Given the description of an element on the screen output the (x, y) to click on. 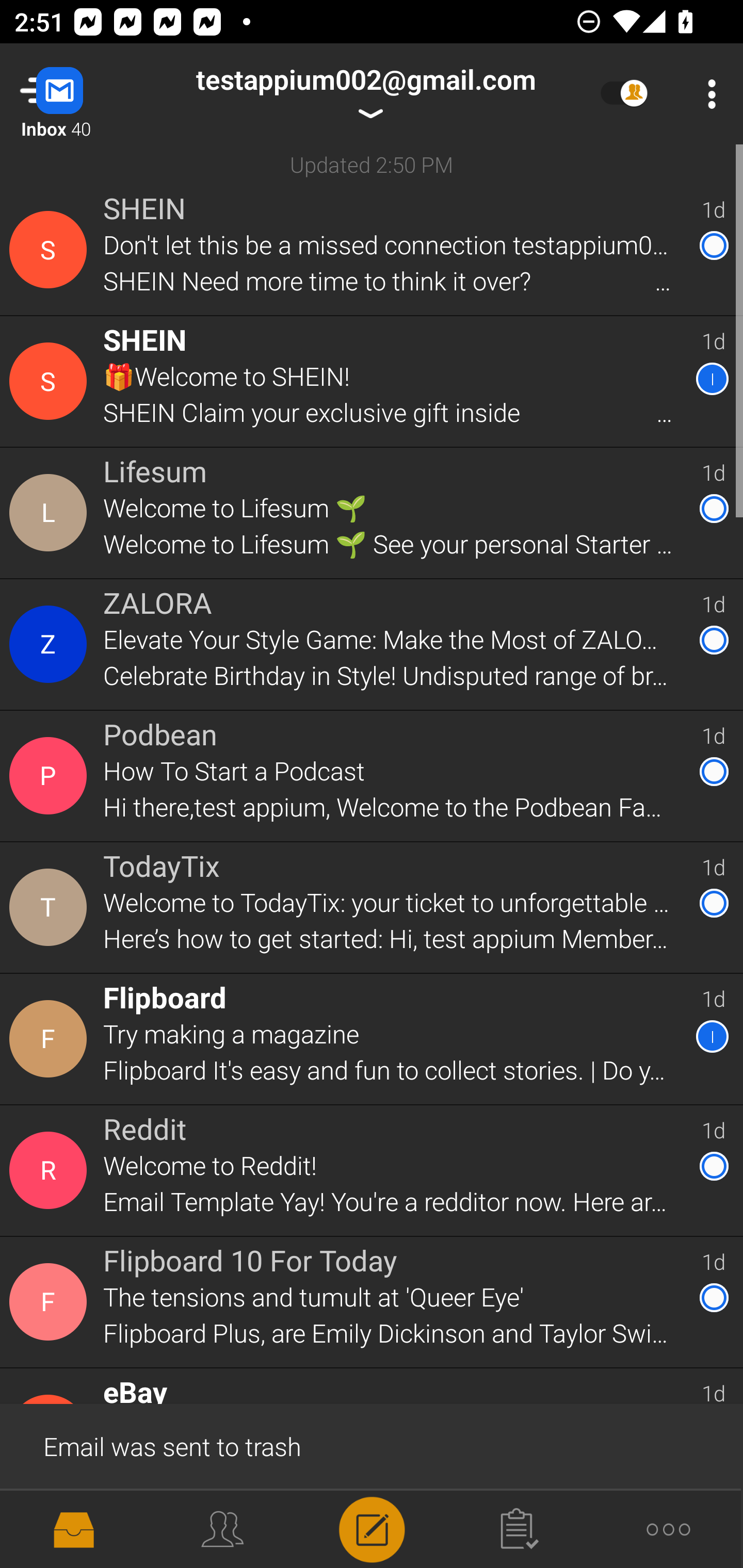
Navigate up (81, 93)
testappium002@gmail.com (365, 93)
More Options (706, 93)
Updated 2:50 PM (371, 164)
Contact Details (50, 250)
Contact Details (50, 381)
Contact Details (50, 513)
Contact Details (50, 644)
Contact Details (50, 776)
Contact Details (50, 907)
Contact Details (50, 1038)
Contact Details (50, 1170)
Contact Details (50, 1302)
Email was sent to trash (371, 1445)
